Given the description of an element on the screen output the (x, y) to click on. 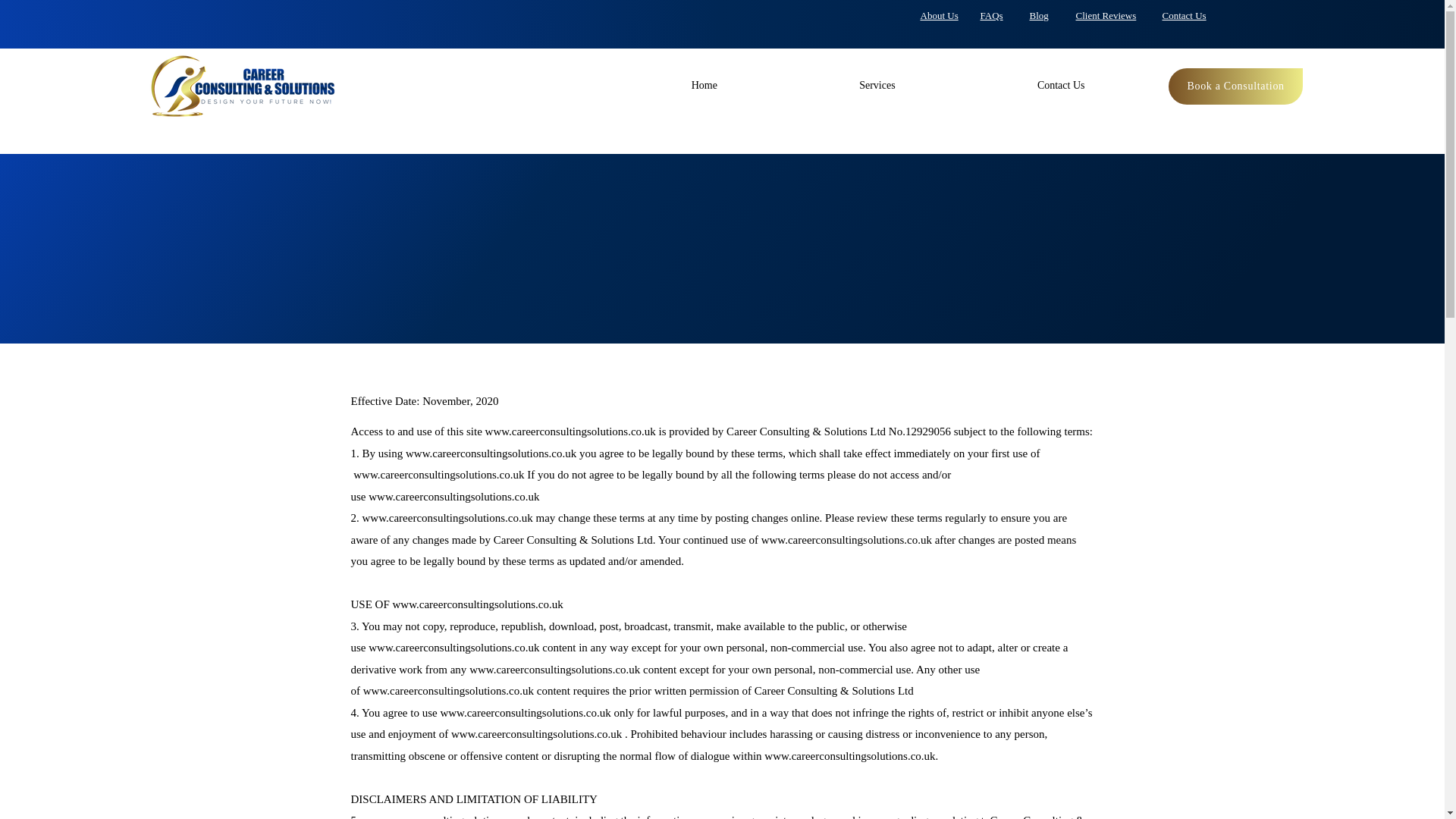
www.careerconsultingsolutions.co.uk (554, 669)
Client Reviews (1105, 15)
www.careerconsultingsolutions.co.uk (846, 539)
www.careerconsultingsolutions.co.uk (453, 647)
www.careerconsultingsolutions.co.uk (438, 474)
FAQs (991, 15)
www.careerconsultingsolutions.co.uk (524, 712)
About Us (939, 15)
www.careerconsultingsolutions.co.uk (448, 690)
www.careerconsultingsolutions.co.uk (491, 453)
